Given the description of an element on the screen output the (x, y) to click on. 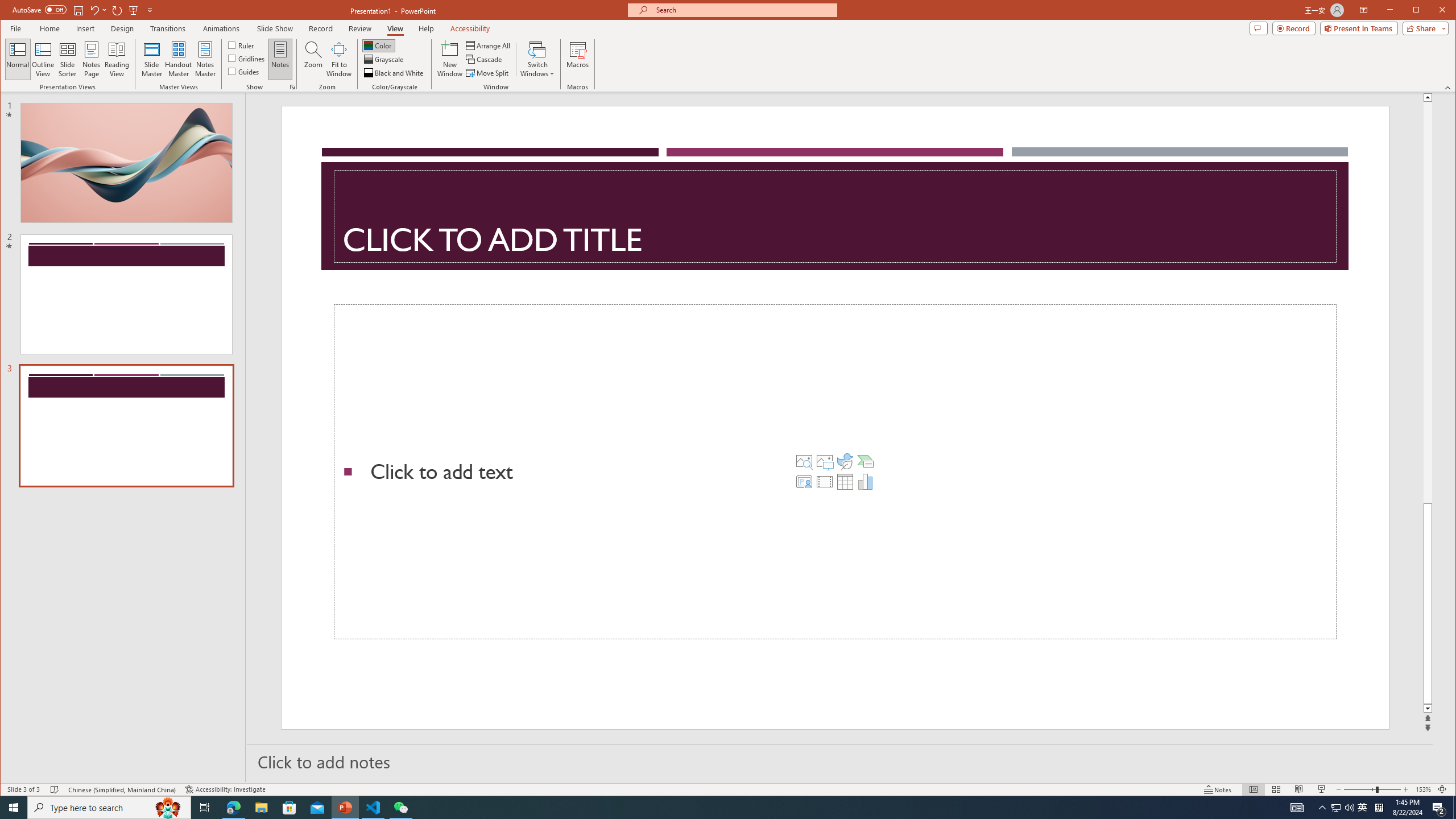
Arrange All (488, 45)
Grid Settings... (292, 86)
Switch Windows (537, 59)
Fit to Window (338, 59)
Content Placeholder (834, 471)
